Given the description of an element on the screen output the (x, y) to click on. 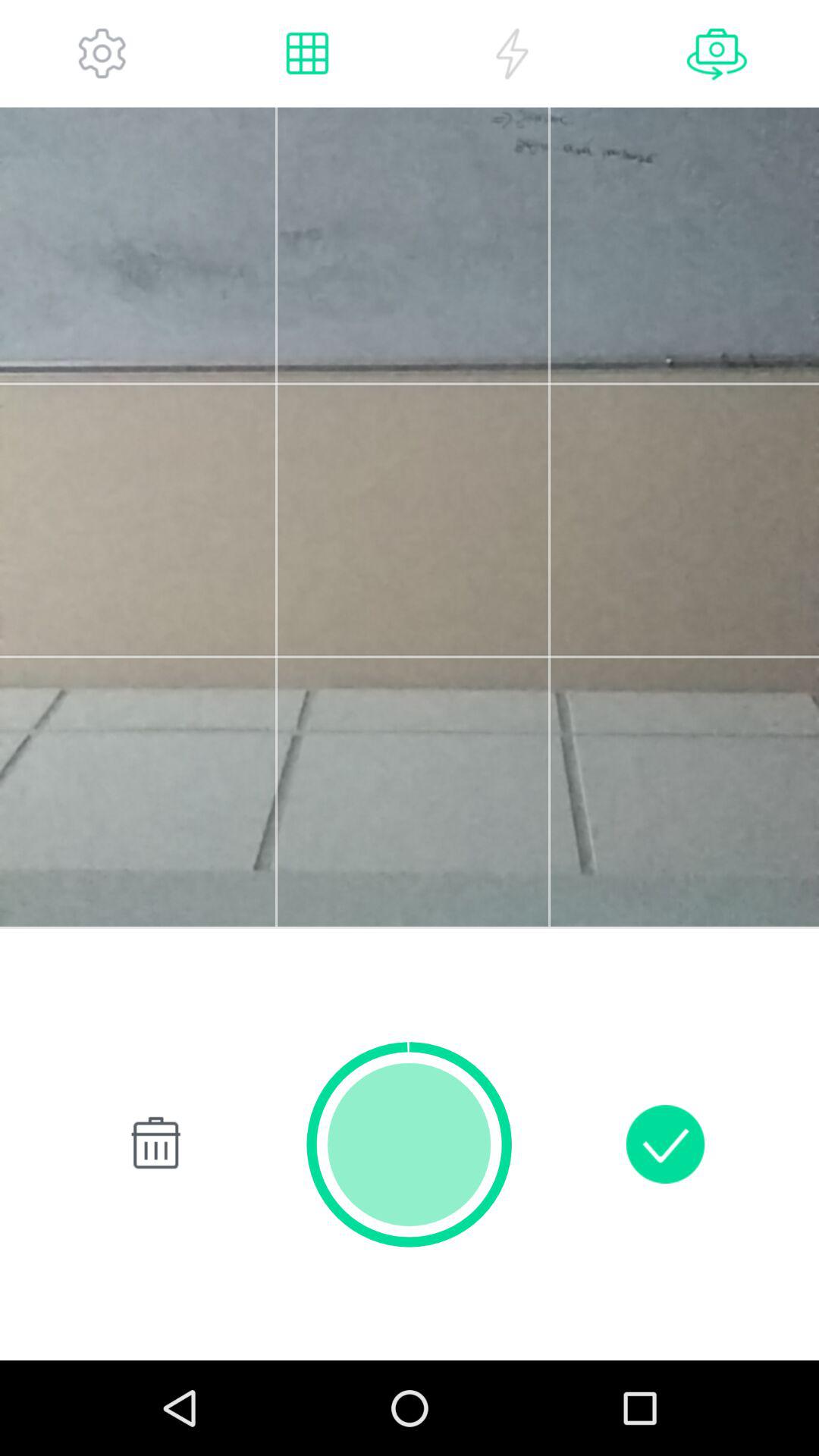
flash (511, 53)
